Given the description of an element on the screen output the (x, y) to click on. 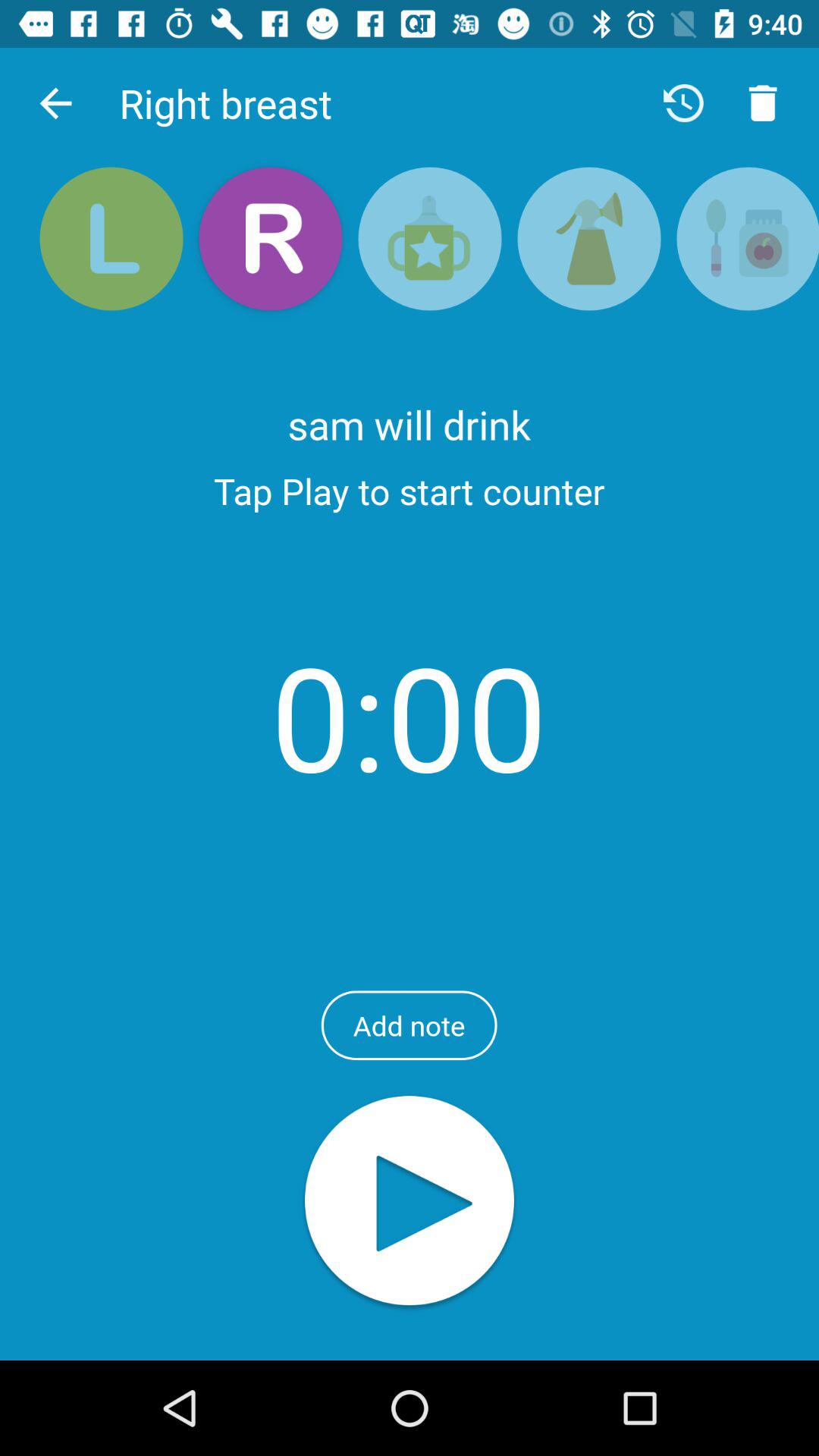
click the add note icon (409, 1025)
